Given the description of an element on the screen output the (x, y) to click on. 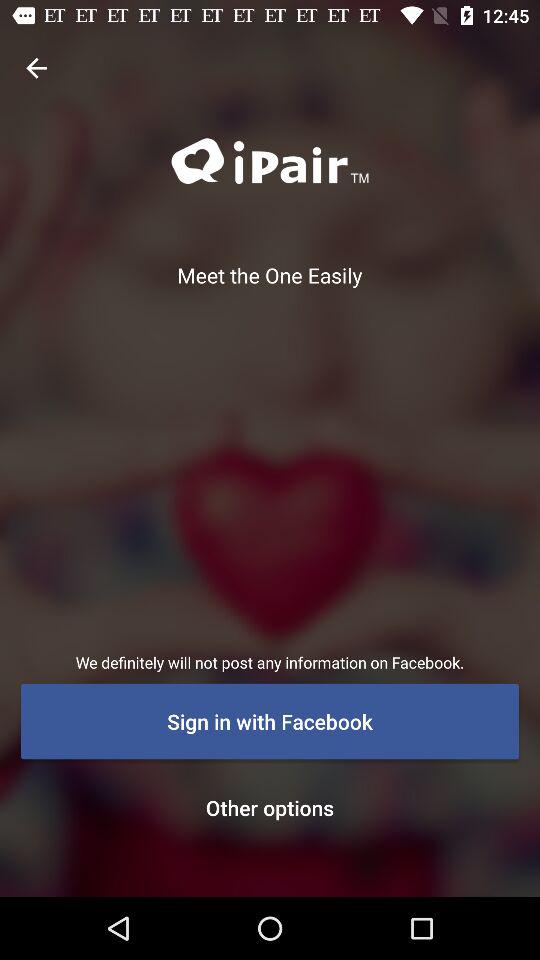
tap the other options item (270, 807)
